Given the description of an element on the screen output the (x, y) to click on. 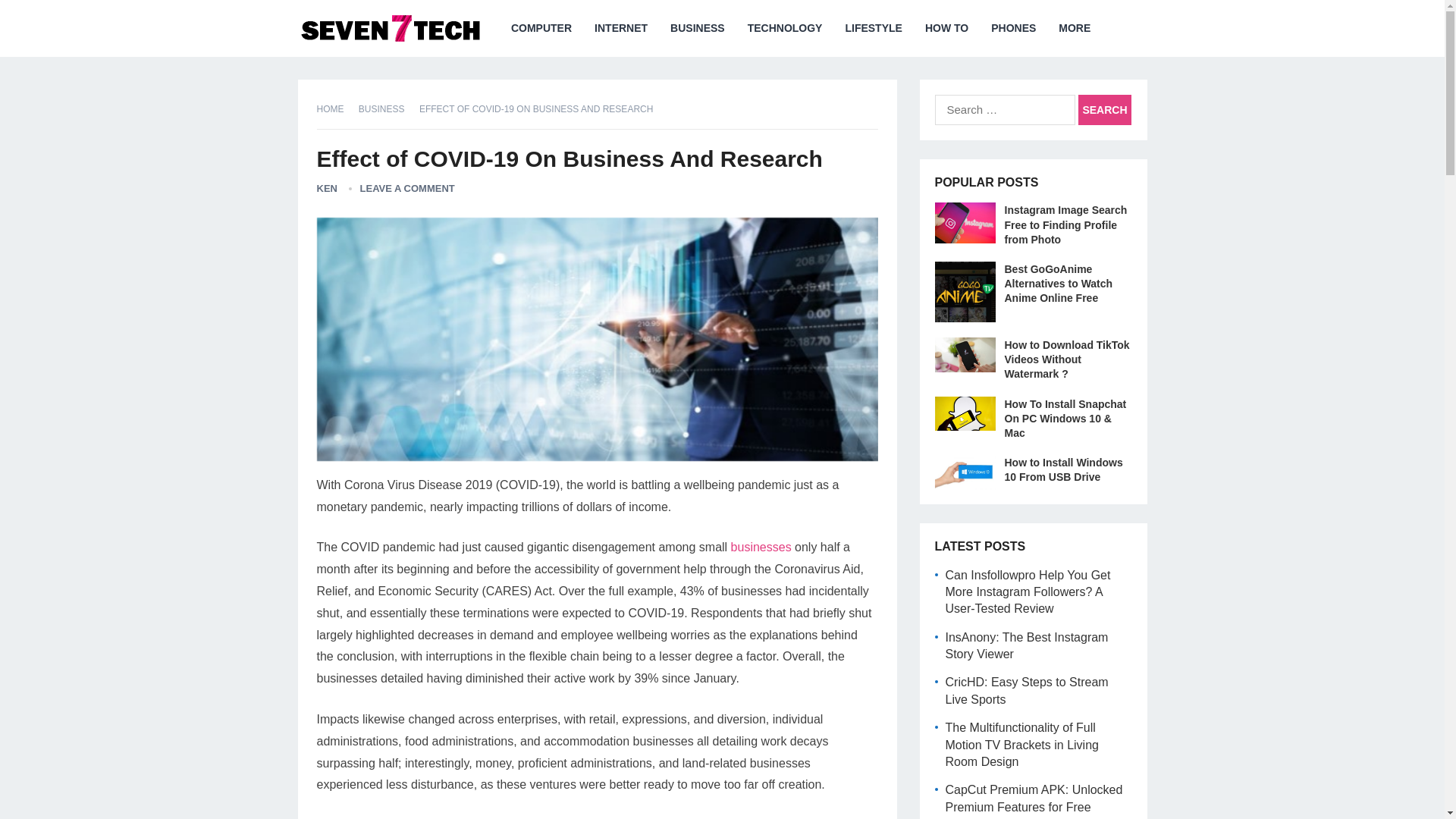
How to Download TikTok Videos Without Watermark ? (1066, 359)
PHONES (1012, 28)
BUSINESS (386, 109)
Search (1104, 110)
Search (1104, 110)
HOME (336, 109)
HOW TO (946, 28)
BUSINESS (697, 28)
MORE (1074, 28)
Instagram Image Search Free to Finding Profile from Photo (1065, 223)
